Given the description of an element on the screen output the (x, y) to click on. 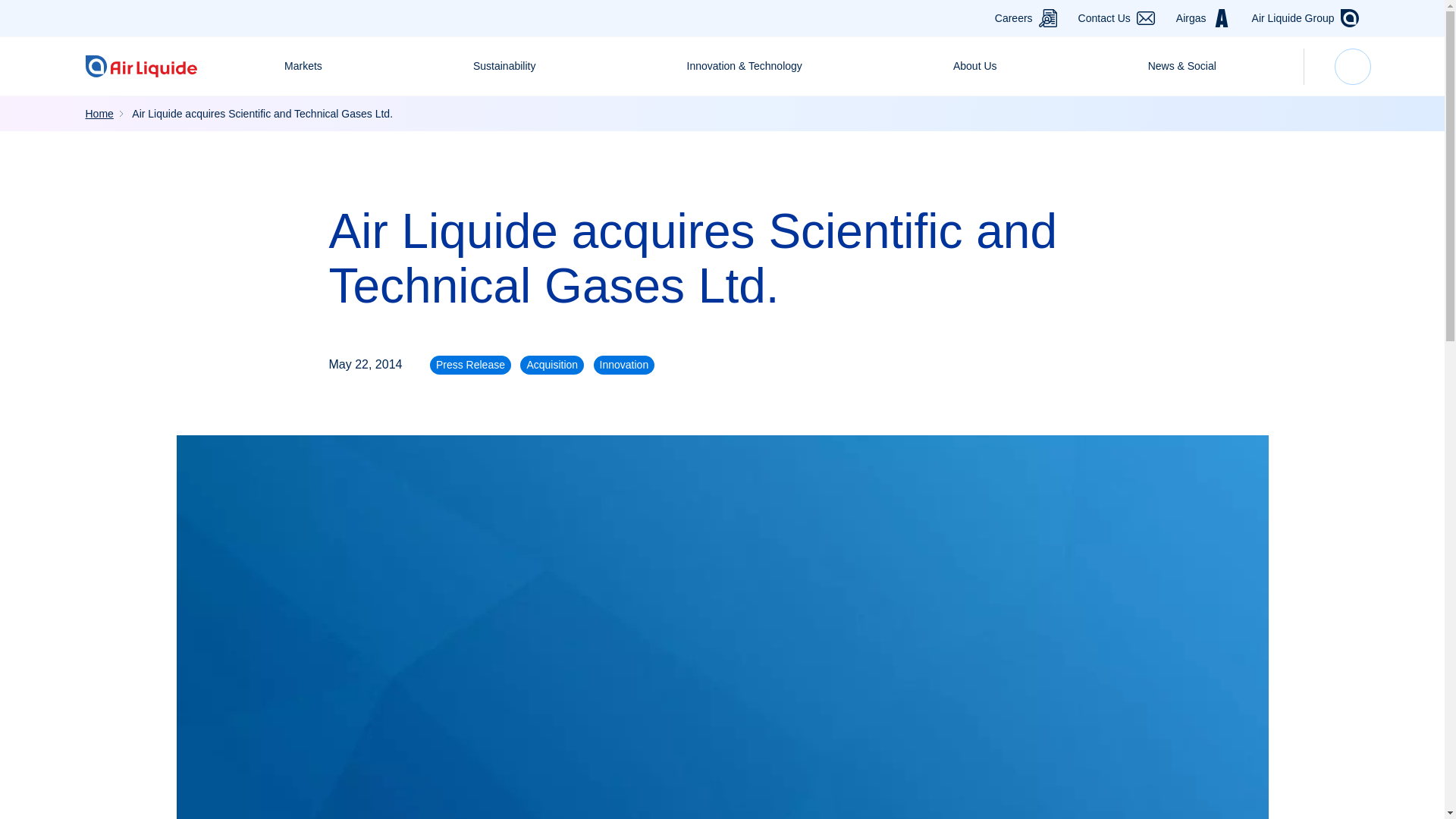
Careers (1013, 18)
Markets (303, 65)
Contact Us (1104, 18)
Air Liquide Group (1293, 18)
Airgas (1191, 18)
Sustainability (504, 65)
